Given the description of an element on the screen output the (x, y) to click on. 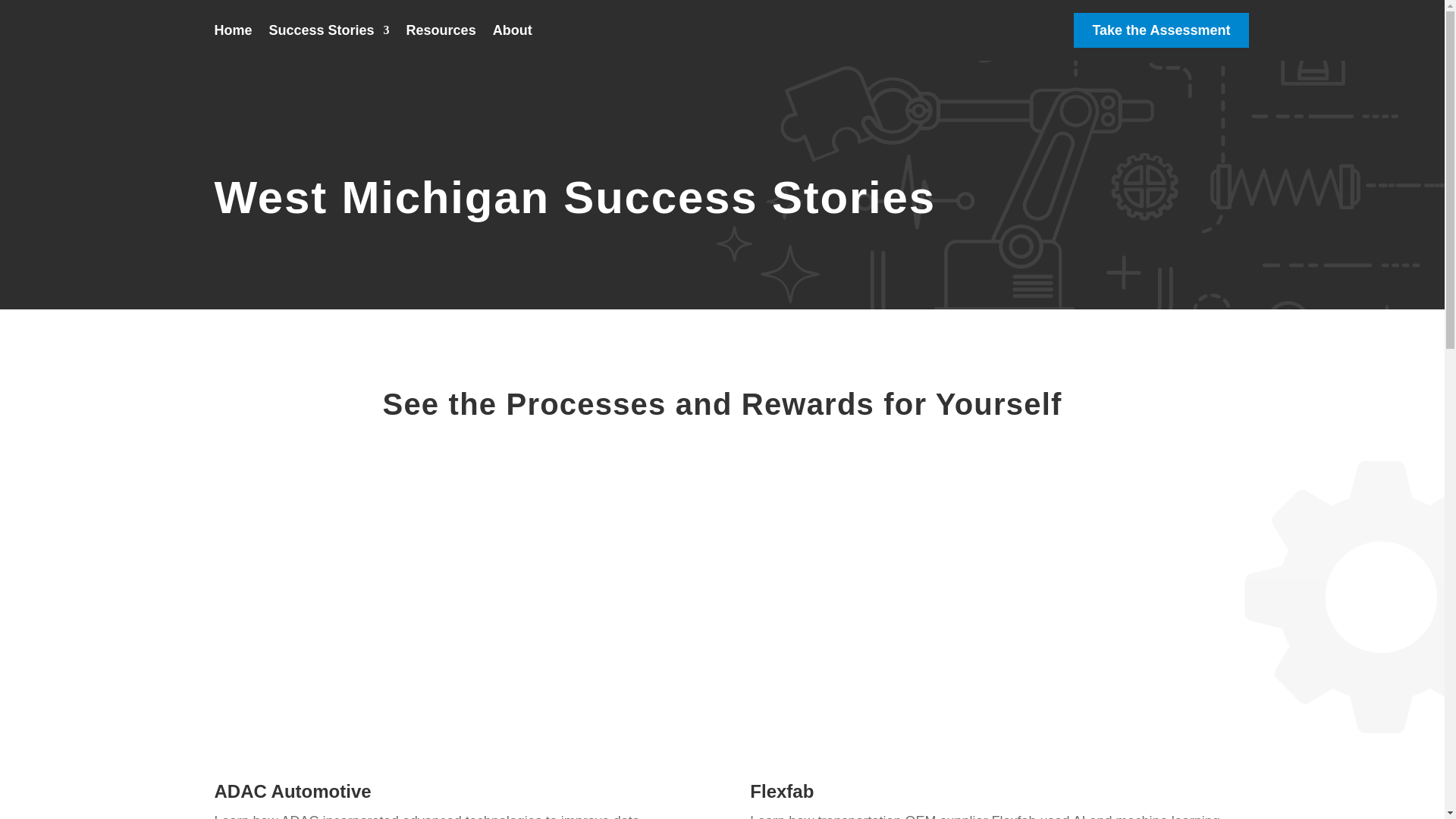
Home (232, 42)
About (512, 42)
Industry 4.0 Success Stories l Flexfab (989, 615)
Take the Assessment (1161, 42)
Success Stories (329, 42)
Industry 4.0 Success Stories l ADAC Automotive (454, 615)
Resources (441, 42)
